Given the description of an element on the screen output the (x, y) to click on. 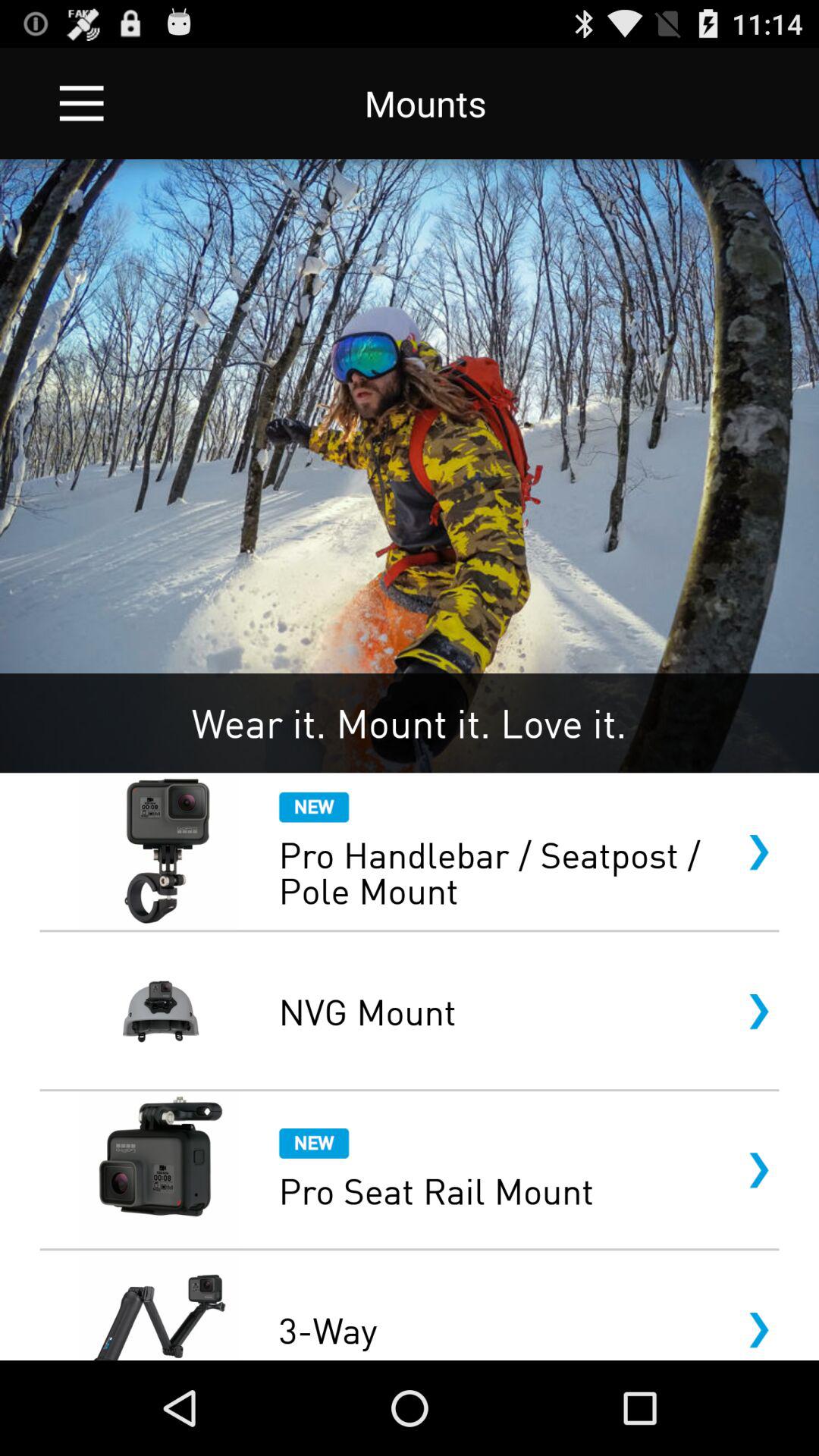
menu (81, 102)
